Given the description of an element on the screen output the (x, y) to click on. 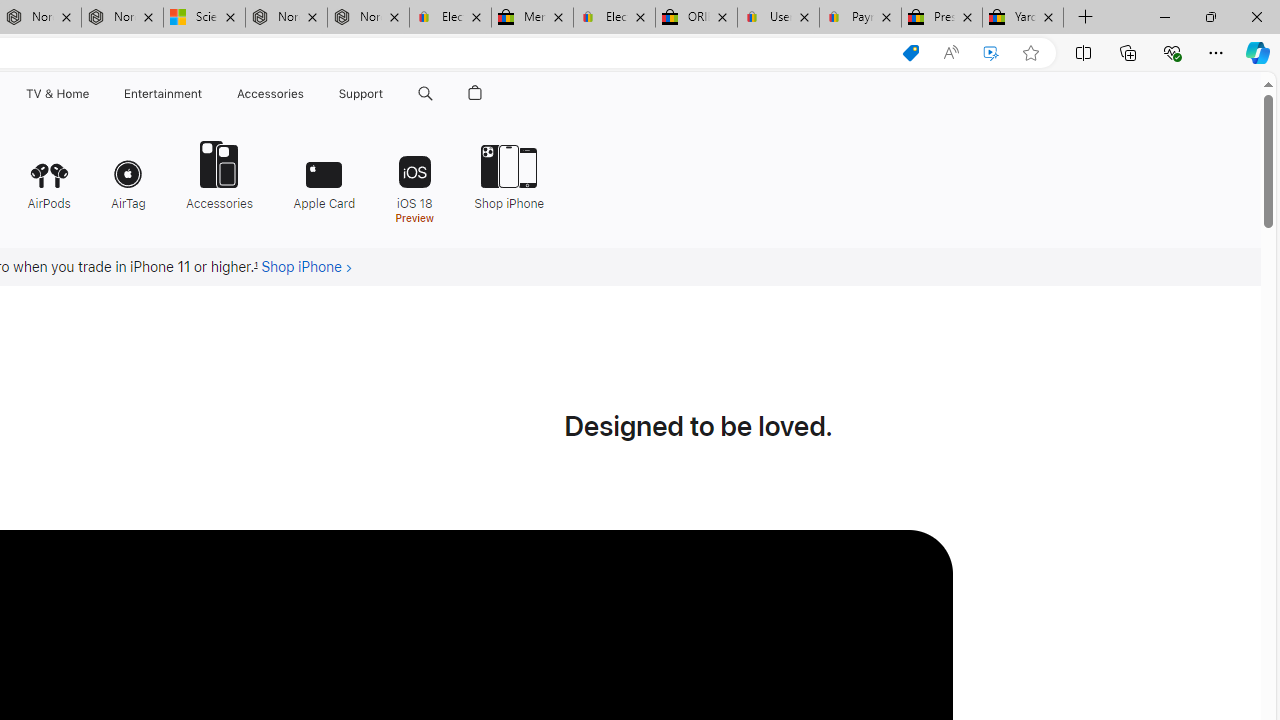
AirPods (48, 173)
Entertainment menu (205, 93)
Accessories (219, 173)
iOS 18 Preview (414, 179)
AirPods (48, 173)
Apple Card (324, 173)
Nordace - FAQ (368, 17)
Enhance video (991, 53)
